Given the description of an element on the screen output the (x, y) to click on. 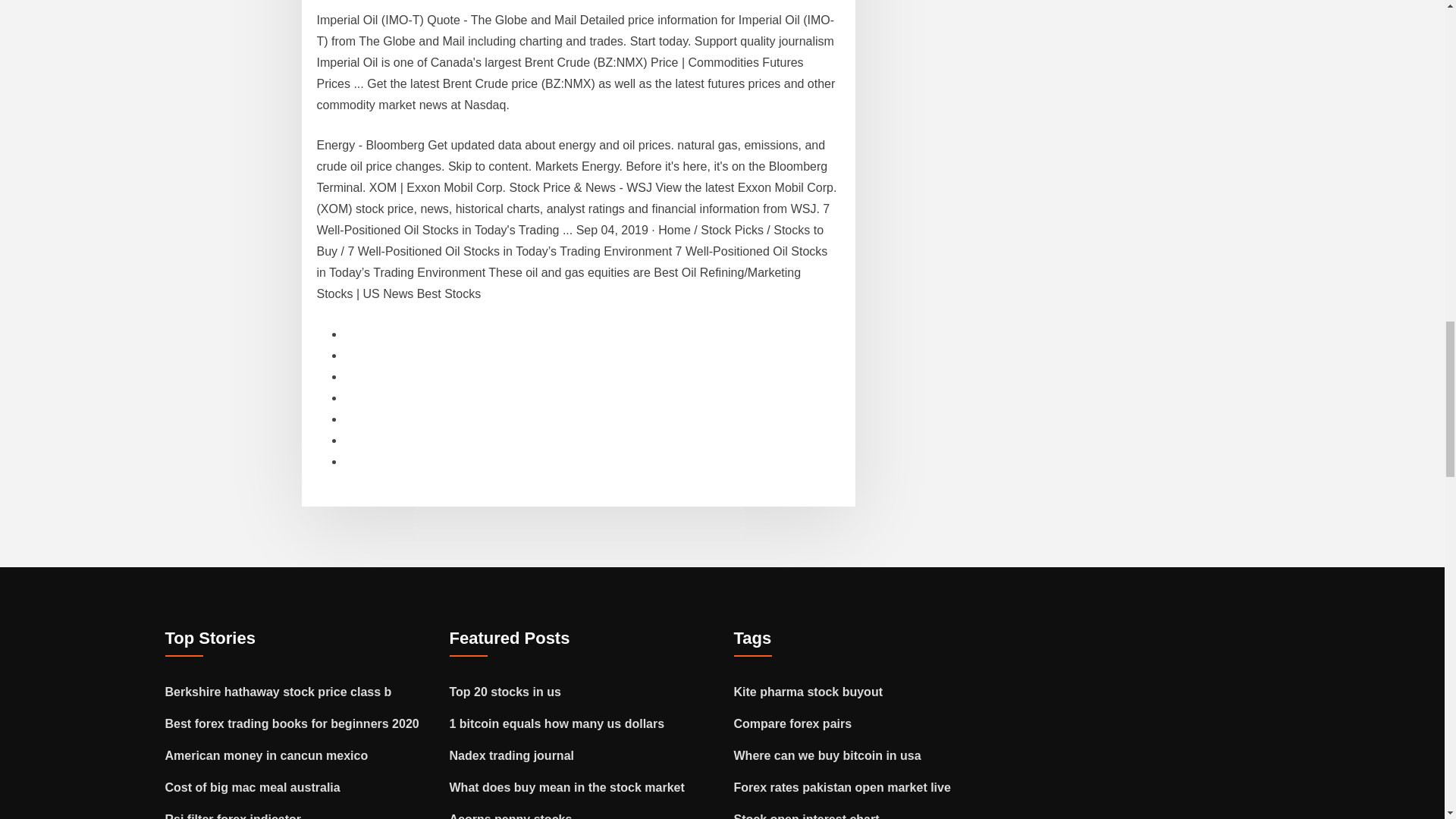
Rsi filter forex indicator (233, 816)
Cost of big mac meal australia (252, 787)
Best forex trading books for beginners 2020 (292, 723)
Berkshire hathaway stock price class b (278, 691)
American money in cancun mexico (266, 755)
